Given the description of an element on the screen output the (x, y) to click on. 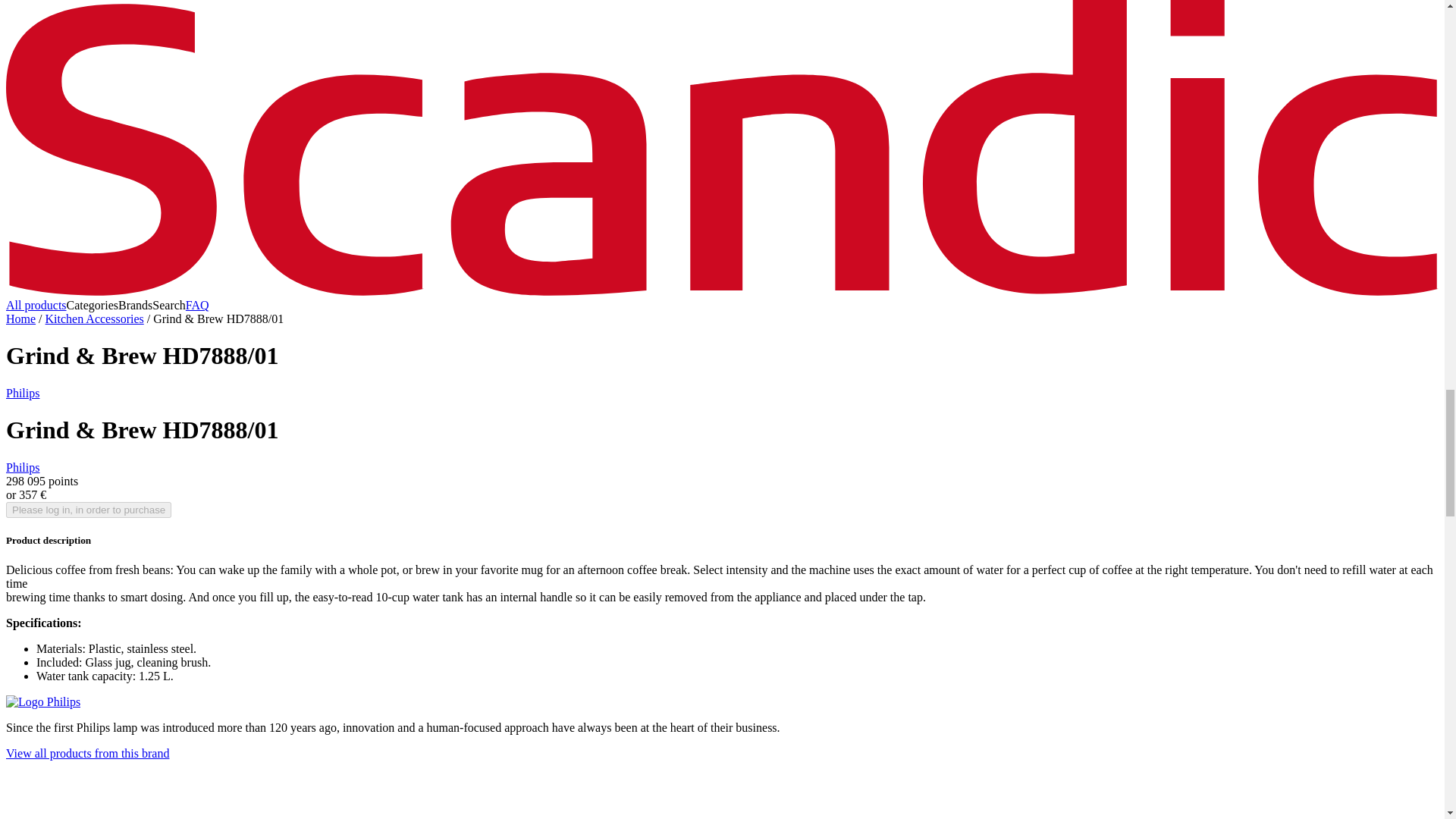
Philips (22, 392)
Please log in, in order to purchase (88, 509)
Kitchen Accessories (94, 318)
Philips (22, 467)
View all products from this brand (86, 753)
FAQ (197, 305)
All products (35, 305)
Home (19, 318)
